Given the description of an element on the screen output the (x, y) to click on. 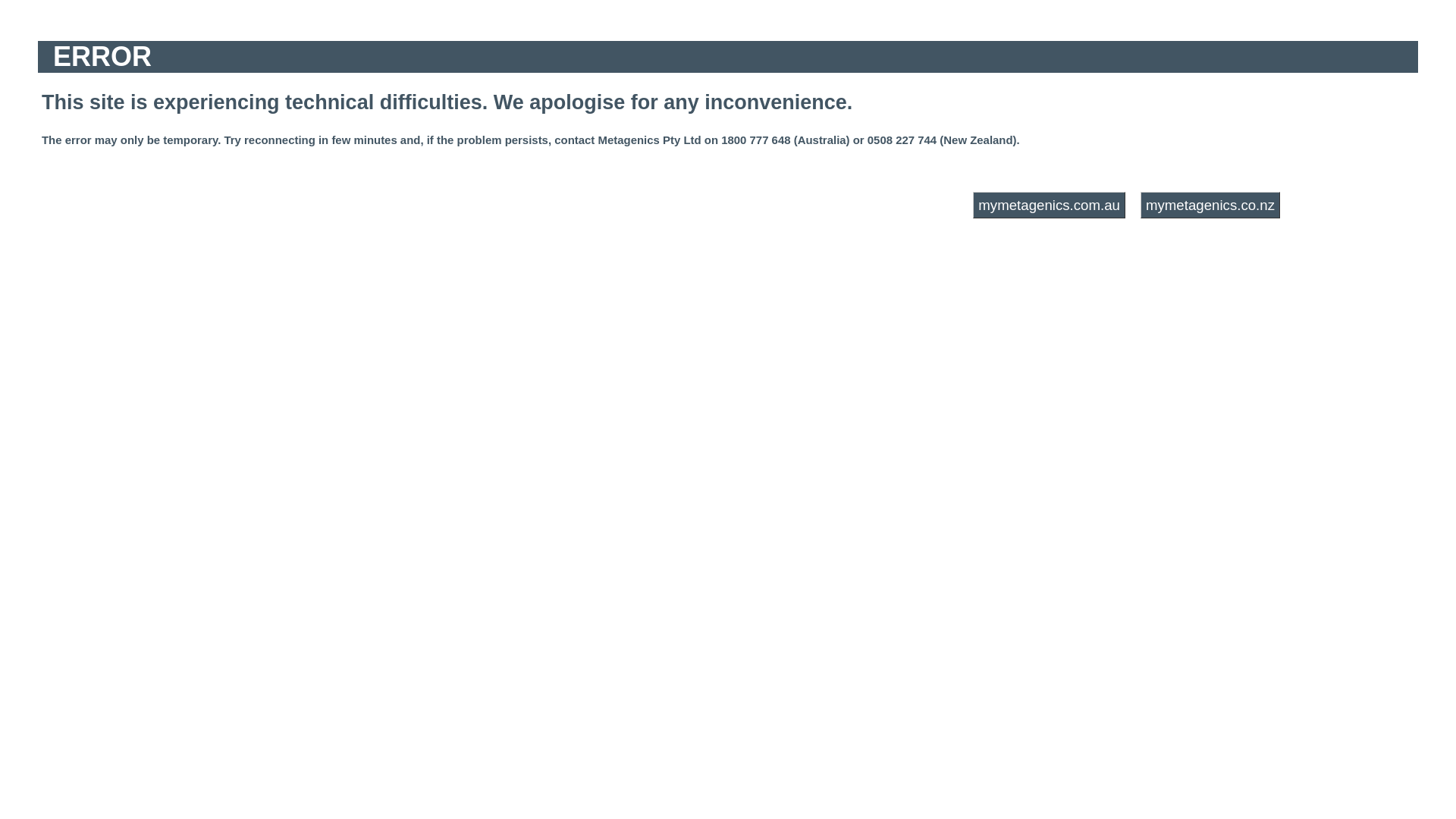
mymetagenics.com.au Element type: text (1048, 204)
mymetagenics.co.nz Element type: text (1210, 204)
